Given the description of an element on the screen output the (x, y) to click on. 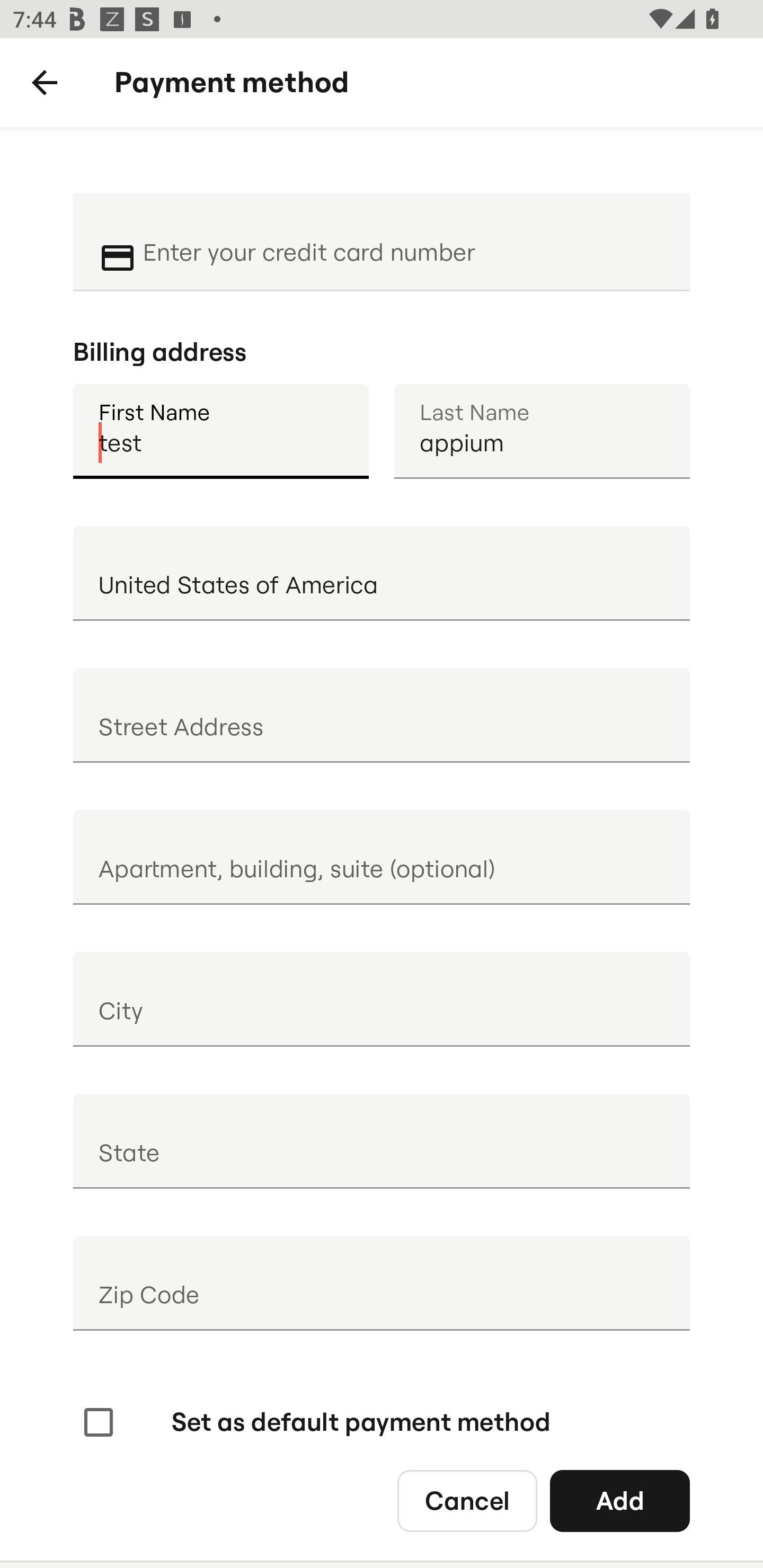
Back (44, 82)
Enter your credit card number (403, 240)
test (220, 431)
appium (541, 431)
United States of America (381, 572)
Street Address (381, 714)
Apartment, building, suite (optional) (381, 857)
City (381, 999)
State (381, 1141)
Zip Code (381, 1283)
Set as default payment method (314, 1421)
Cancel (467, 1500)
Add (619, 1500)
